Given the description of an element on the screen output the (x, y) to click on. 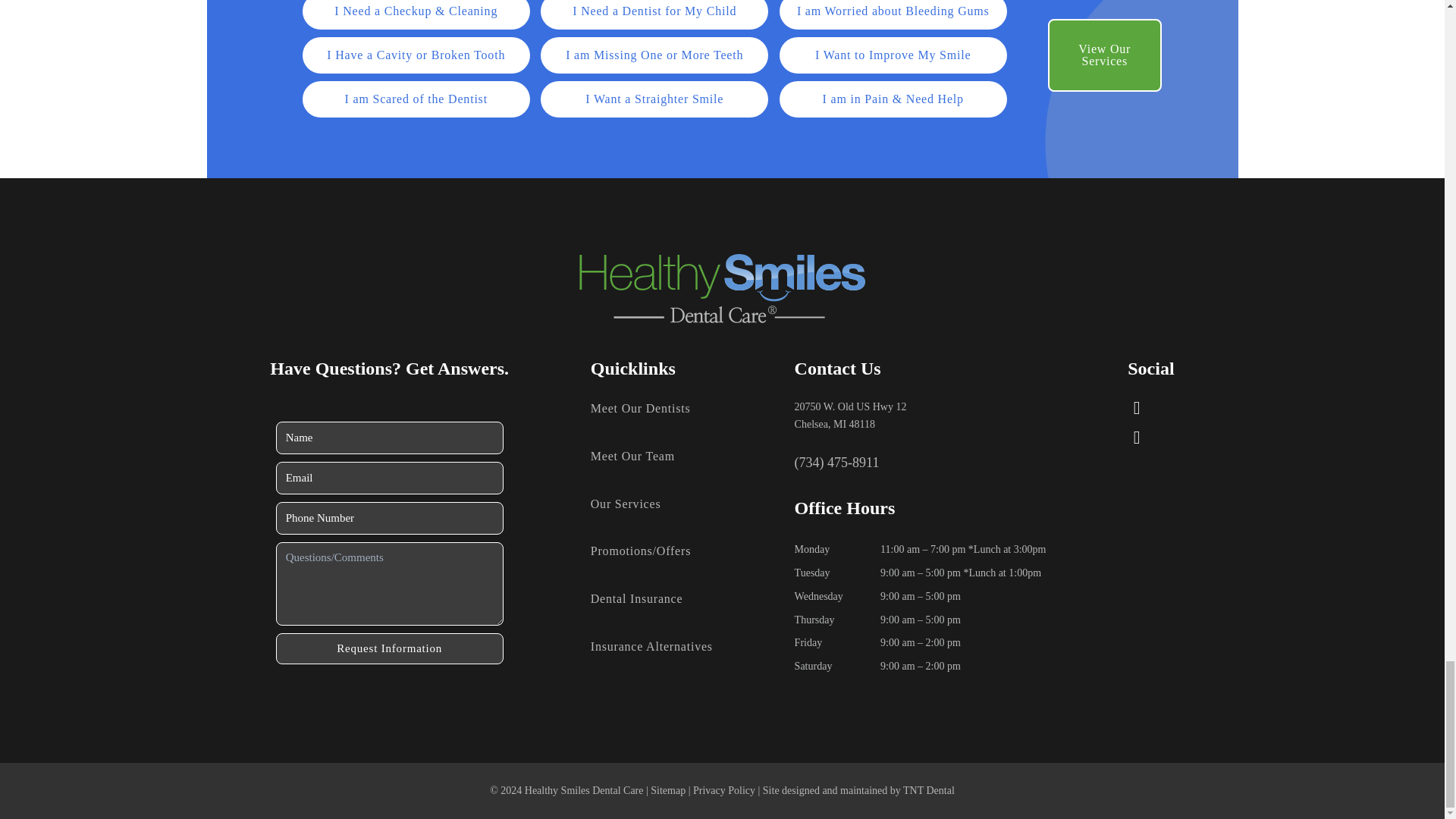
Request Information (389, 648)
